Given the description of an element on the screen output the (x, y) to click on. 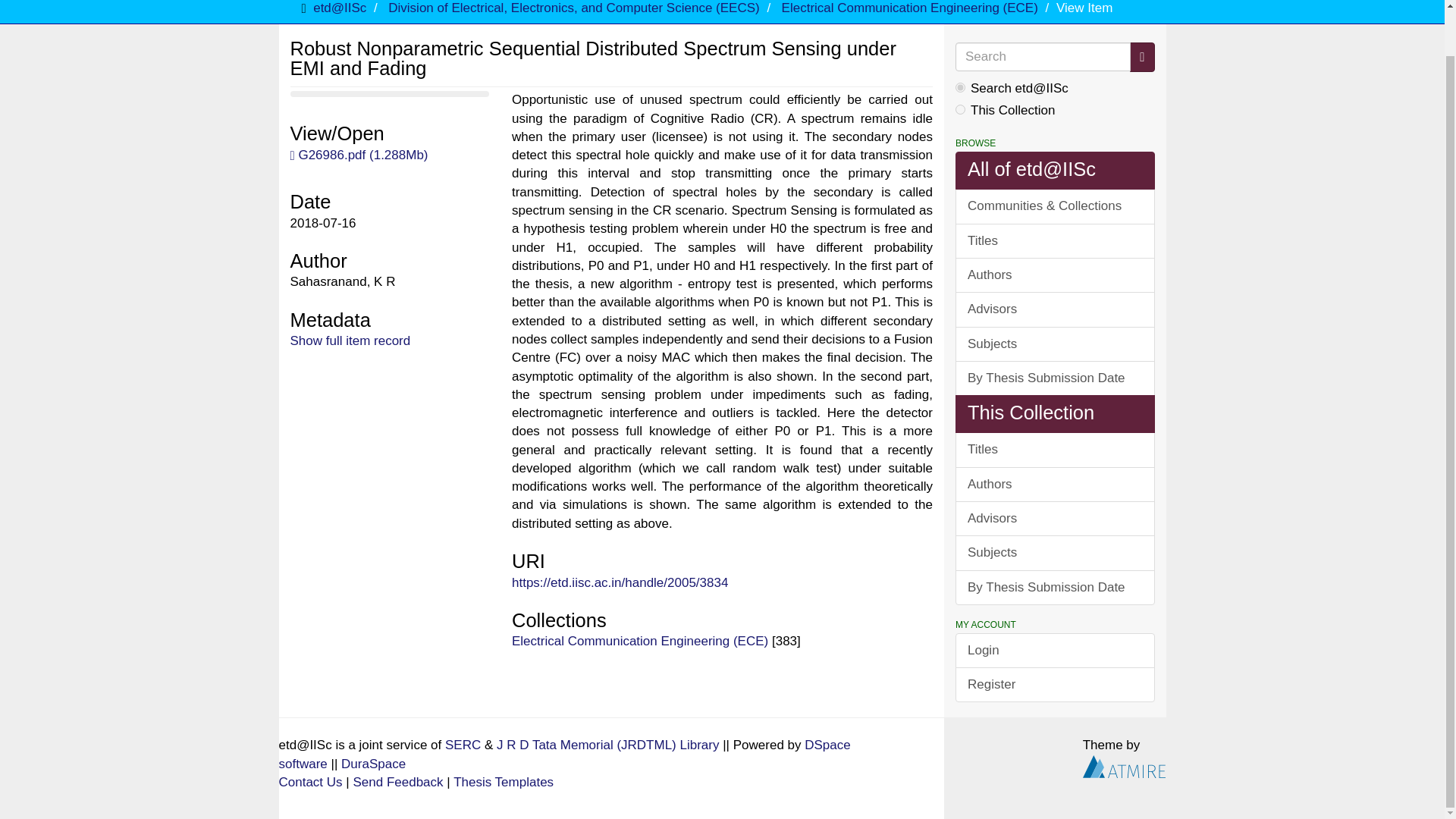
Show full item record (349, 340)
By Thesis Submission Date (1054, 378)
This Collection (1054, 413)
Advisors (1054, 518)
Titles (1054, 449)
Advisors (1054, 308)
Atmire NV (1124, 765)
Titles (1054, 240)
Subjects (1054, 552)
Subjects (1054, 343)
Authors (1054, 484)
Authors (1054, 274)
